Given the description of an element on the screen output the (x, y) to click on. 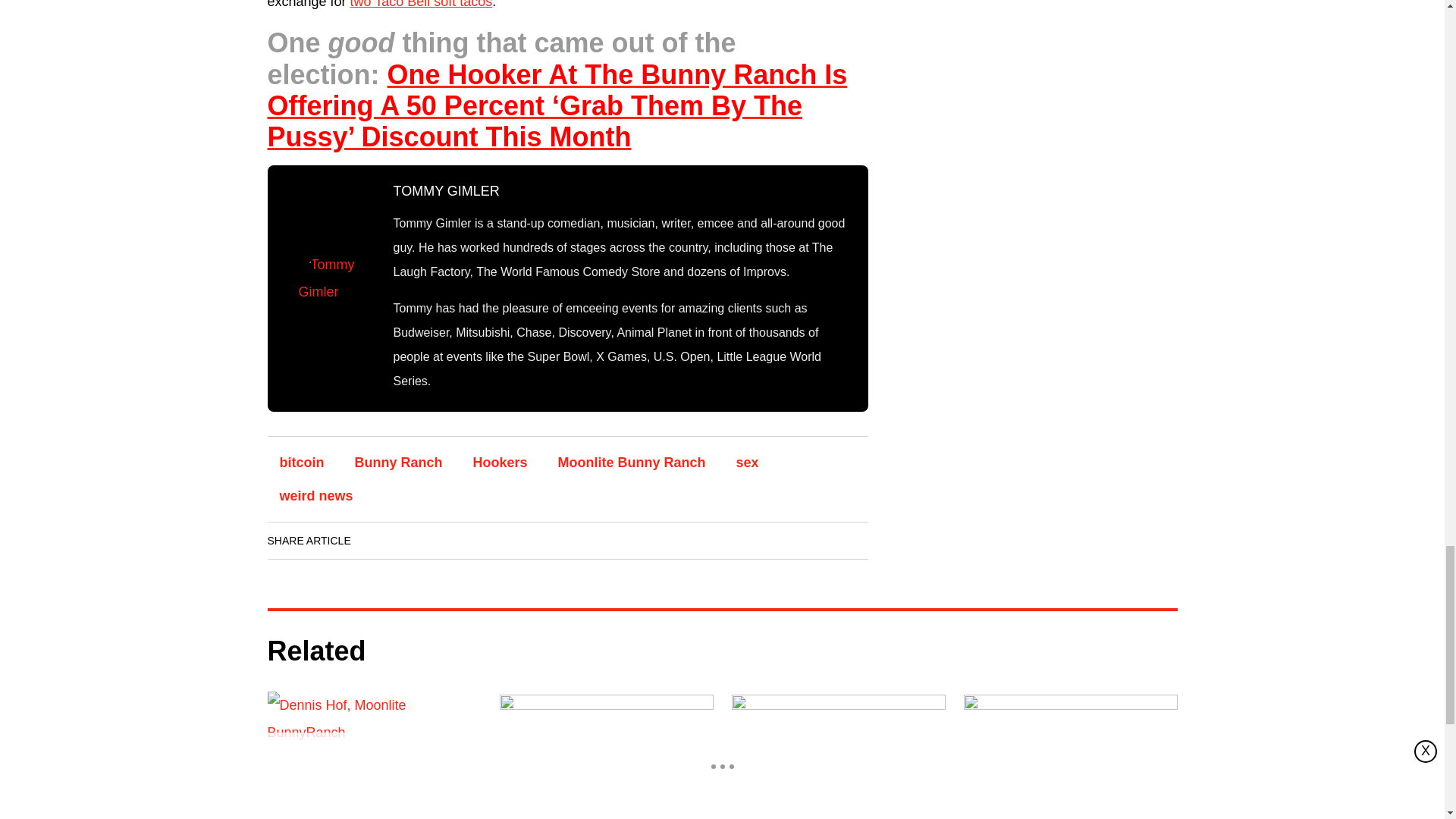
Bunny Ranch (398, 461)
LinkedIn (420, 540)
Twitter (463, 540)
two Taco Bell soft tacos (421, 4)
Pinterest (505, 540)
bitcoin (301, 461)
sex (747, 461)
weird news (315, 495)
Facebook (377, 540)
TOMMY GIMLER (446, 191)
Hookers (500, 461)
Moonlite Bunny Ranch (631, 461)
